Given the description of an element on the screen output the (x, y) to click on. 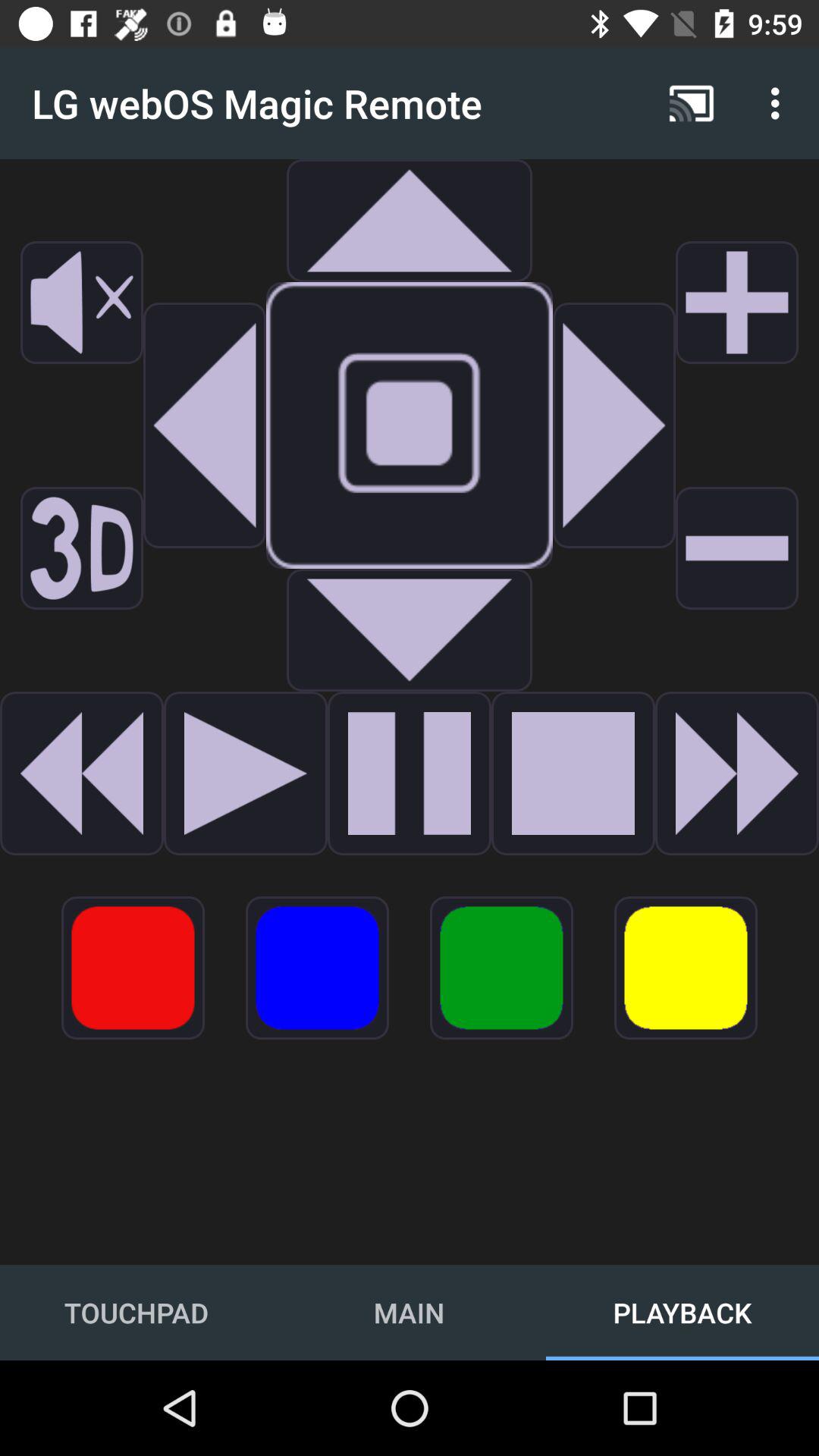
click to subtract (736, 547)
